Given the description of an element on the screen output the (x, y) to click on. 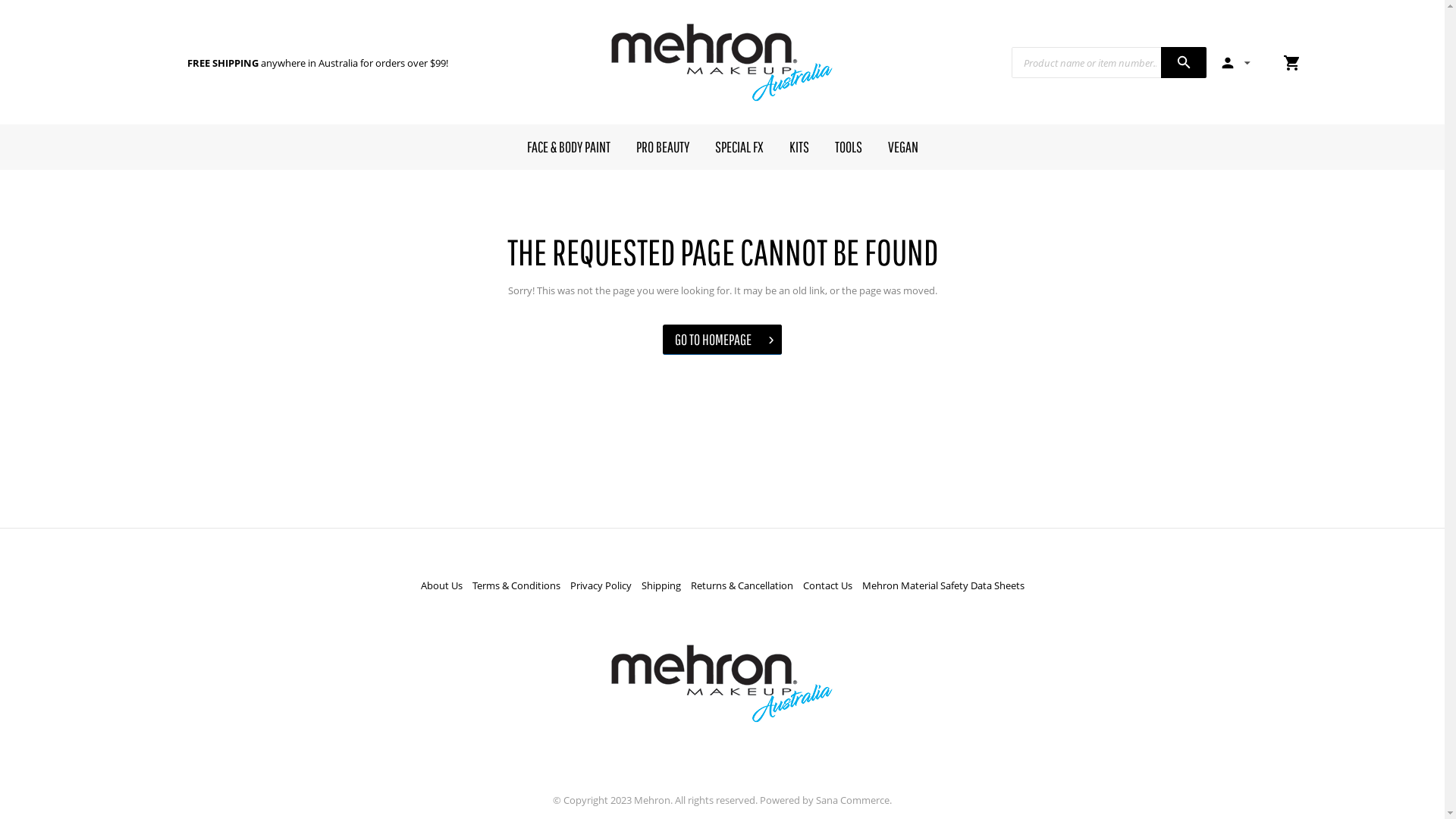
Homepage Element type: text (721, 62)
FACE & BODY PAINT Element type: text (568, 146)
Terms & Conditions Element type: text (515, 585)
PRO BEAUTY Element type: text (662, 146)
GO TO HOMEPAGE Element type: text (721, 339)
TOOLS Element type: text (848, 146)
About Us Element type: text (440, 585)
VEGAN Element type: text (903, 146)
Returns & Cancellation Element type: text (741, 585)
Homepage Element type: text (722, 683)
SPECIAL FX Element type: text (739, 146)
Mehron Material Safety Data Sheets Element type: text (942, 585)
KITS Element type: text (799, 146)
Privacy Policy Element type: text (600, 585)
Shipping Element type: text (660, 585)
Contact Us Element type: text (826, 585)
